Given the description of an element on the screen output the (x, y) to click on. 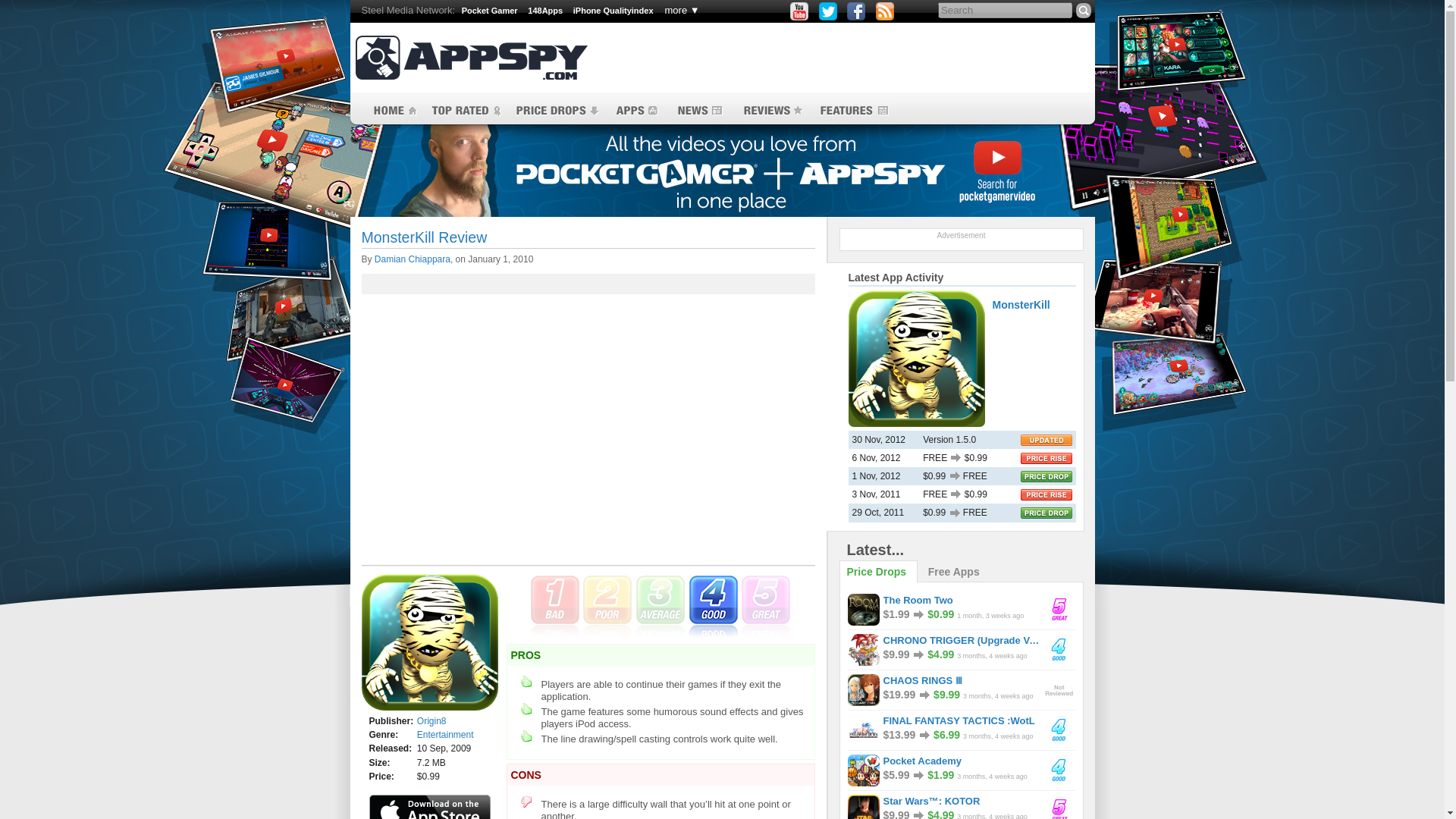
4 out of 5 (660, 607)
Apps On Sale (556, 110)
Subscribe to our RSS feeds (884, 11)
Features (853, 110)
Available on the AppStore (429, 806)
News and Updates (698, 110)
148Apps (544, 10)
Pocket Gamer (489, 10)
Find us on Facebook (855, 11)
Top Rated Apps (464, 110)
